Given the description of an element on the screen output the (x, y) to click on. 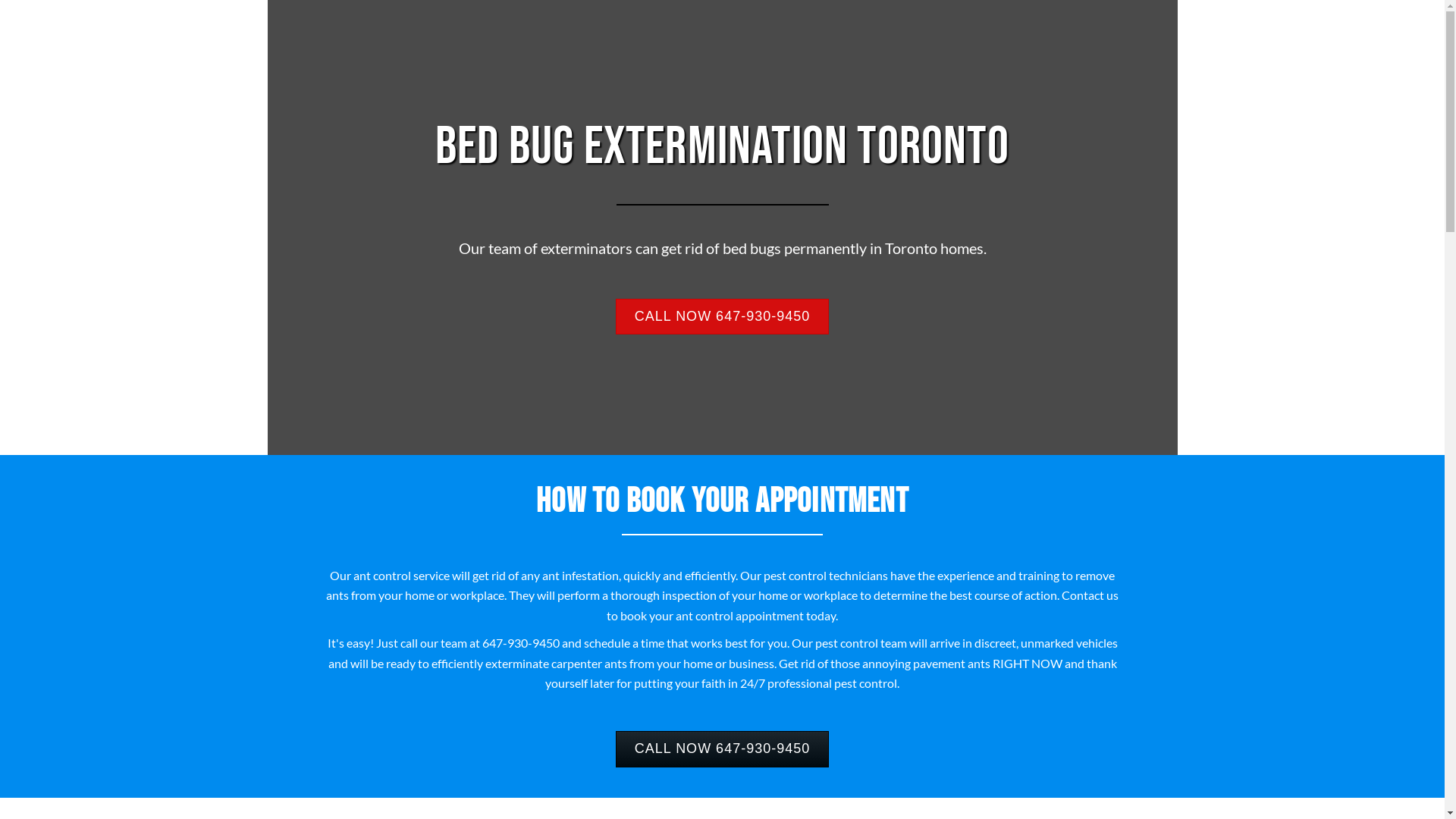
CALL NOW 647-930-9450 Element type: text (721, 749)
CALL NOW 647-930-9450 Element type: text (721, 316)
647-930-9450 Element type: text (520, 642)
